Given the description of an element on the screen output the (x, y) to click on. 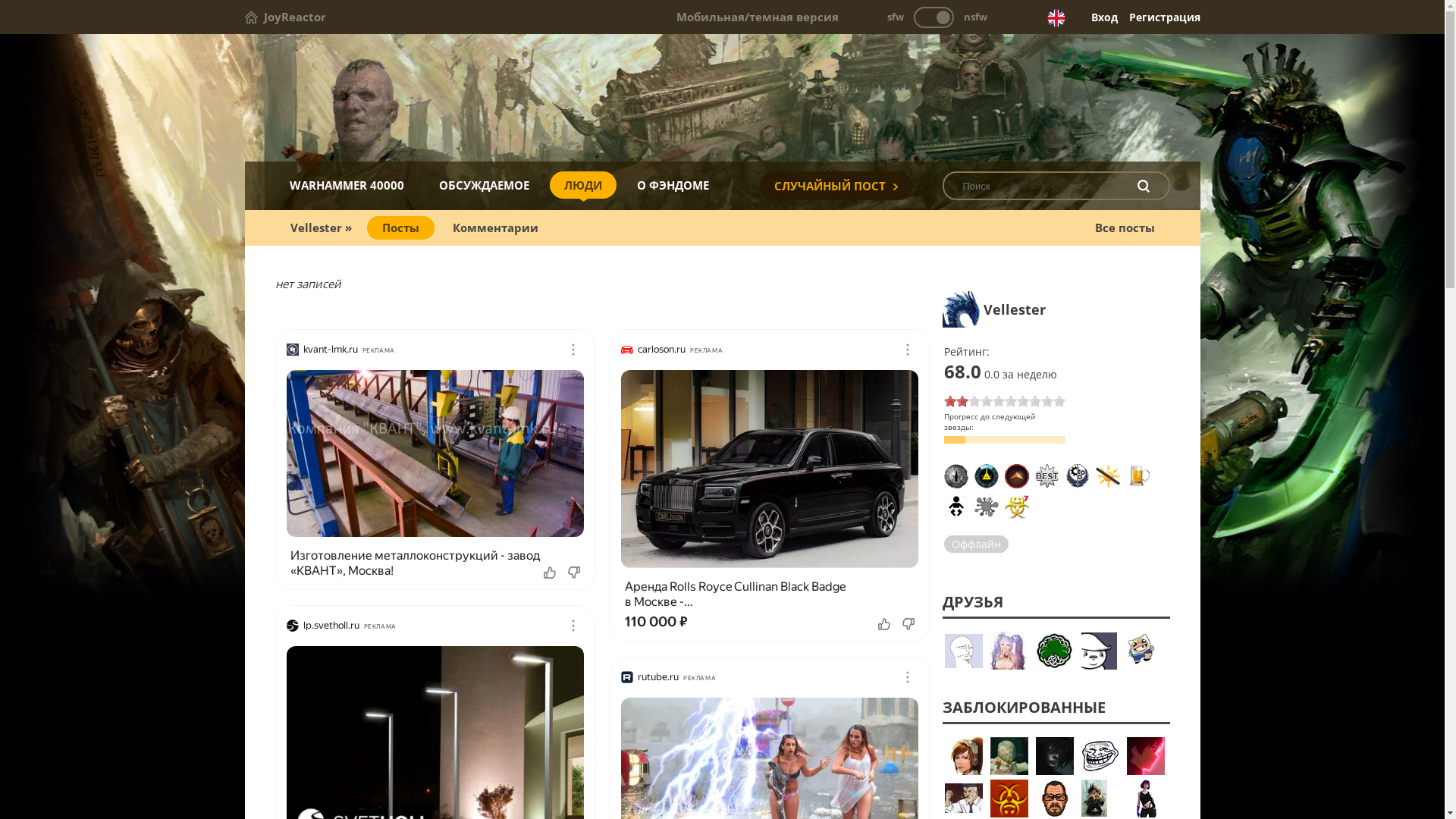
English version Element type: hover (1055, 18)
Lucheg Element type: hover (1100, 798)
ShemRock Element type: hover (1054, 650)
PINanoc Element type: hover (1054, 798)
TRUST NO ONE! (Gravity Falls) Element type: hover (985, 475)
cyberwish Element type: hover (1100, 756)
zombee Element type: hover (1100, 651)
iv29 Element type: hover (963, 652)
WARHAMMER 40000 Element type: text (345, 184)
Vickerina Element type: hover (1145, 798)
PB1Silencer Element type: hover (1009, 756)
GhoSt.24601 Element type: hover (963, 756)
JoyReactor Element type: text (284, 17)
Deadrobot1337 Element type: hover (1054, 756)
Robotron3000 Element type: hover (1009, 798)
unluckyghost26 Element type: hover (1145, 756)
Kifok Element type: hover (1009, 650)
Warhammer 40000 Element type: text (721, 98)
wervolf_13 Element type: hover (1145, 651)
